Given the description of an element on the screen output the (x, y) to click on. 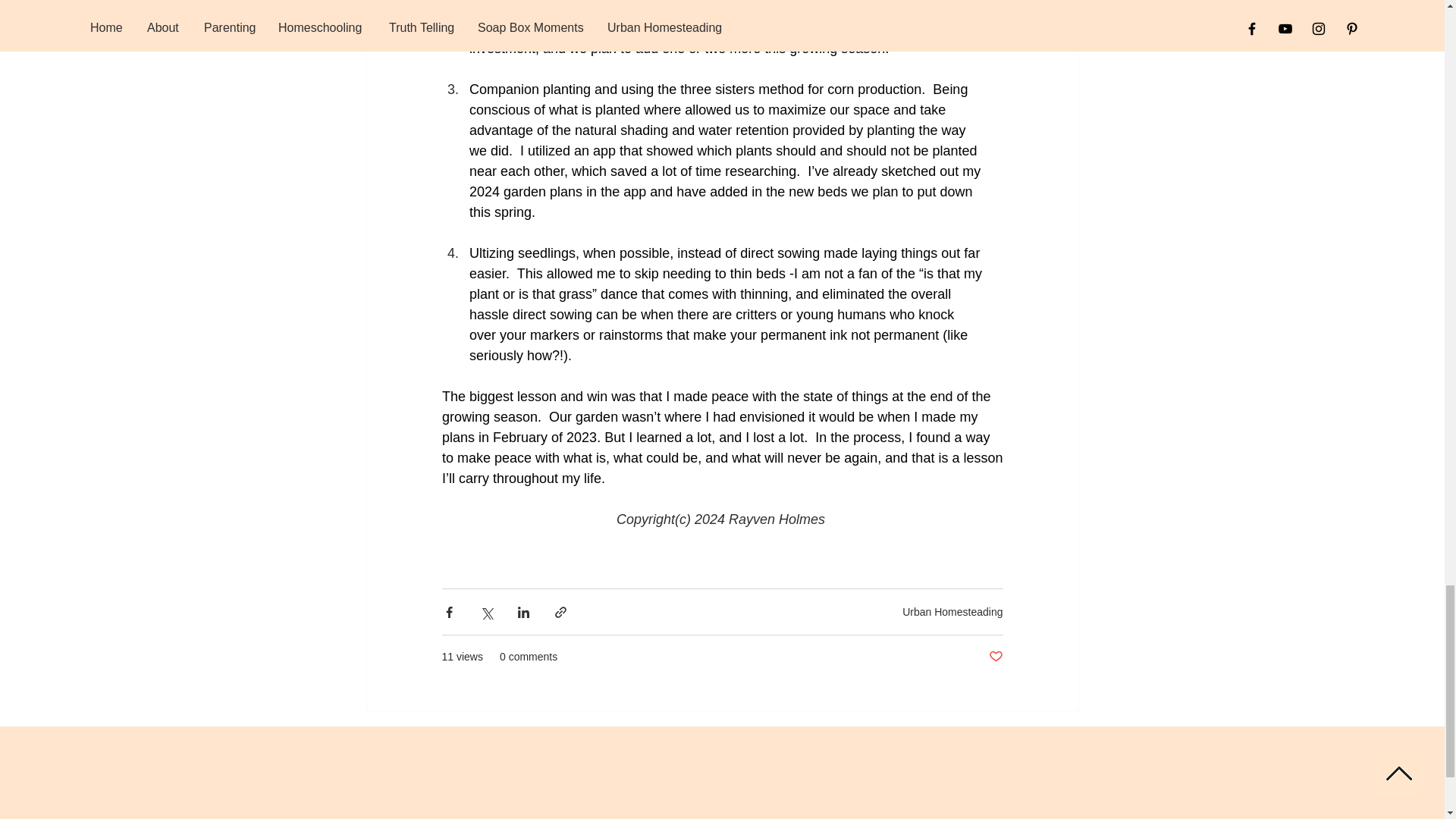
Post not marked as liked (995, 657)
Urban Homesteading (952, 612)
